Given the description of an element on the screen output the (x, y) to click on. 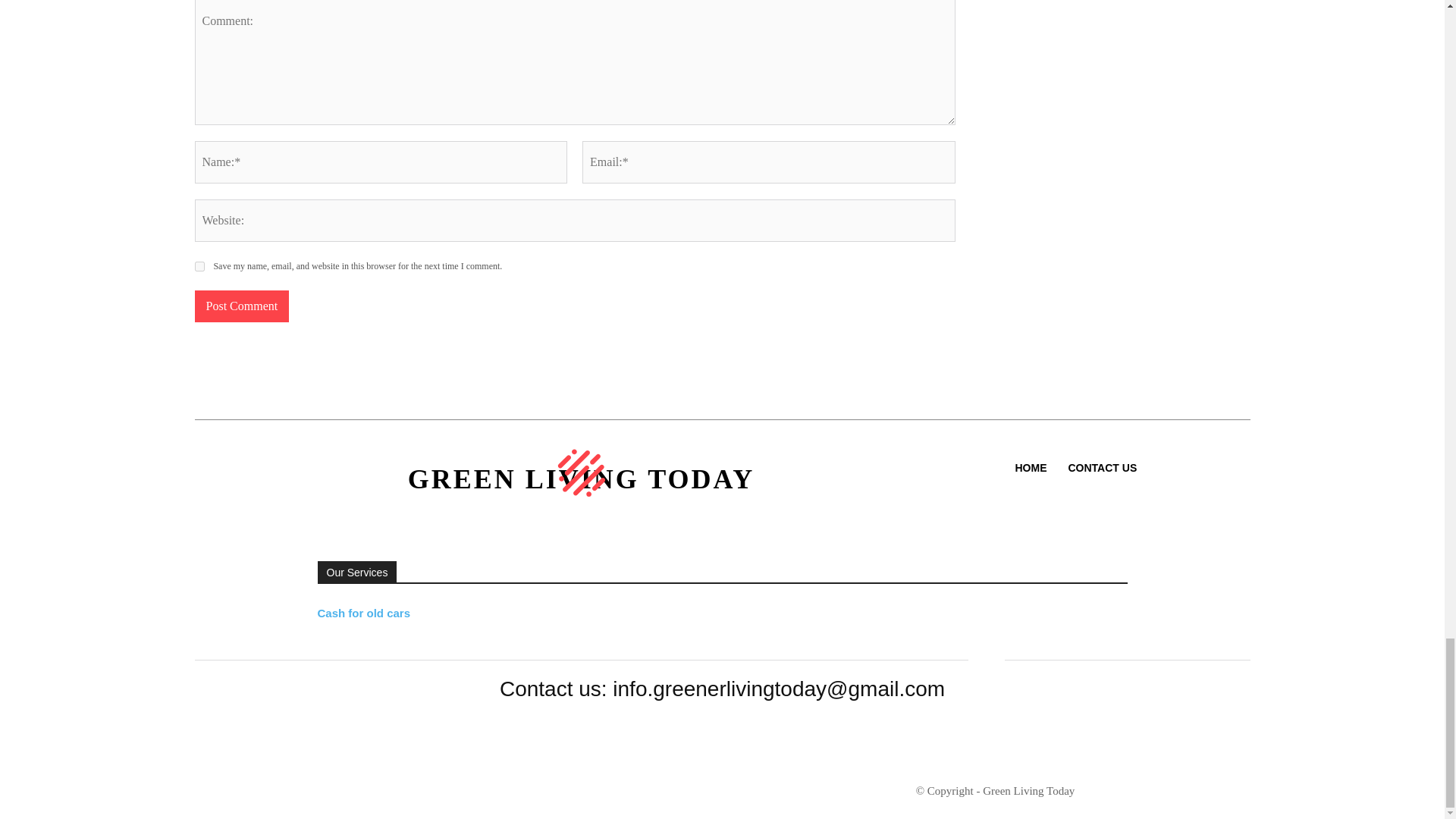
Post Comment (240, 306)
yes (198, 266)
